Given the description of an element on the screen output the (x, y) to click on. 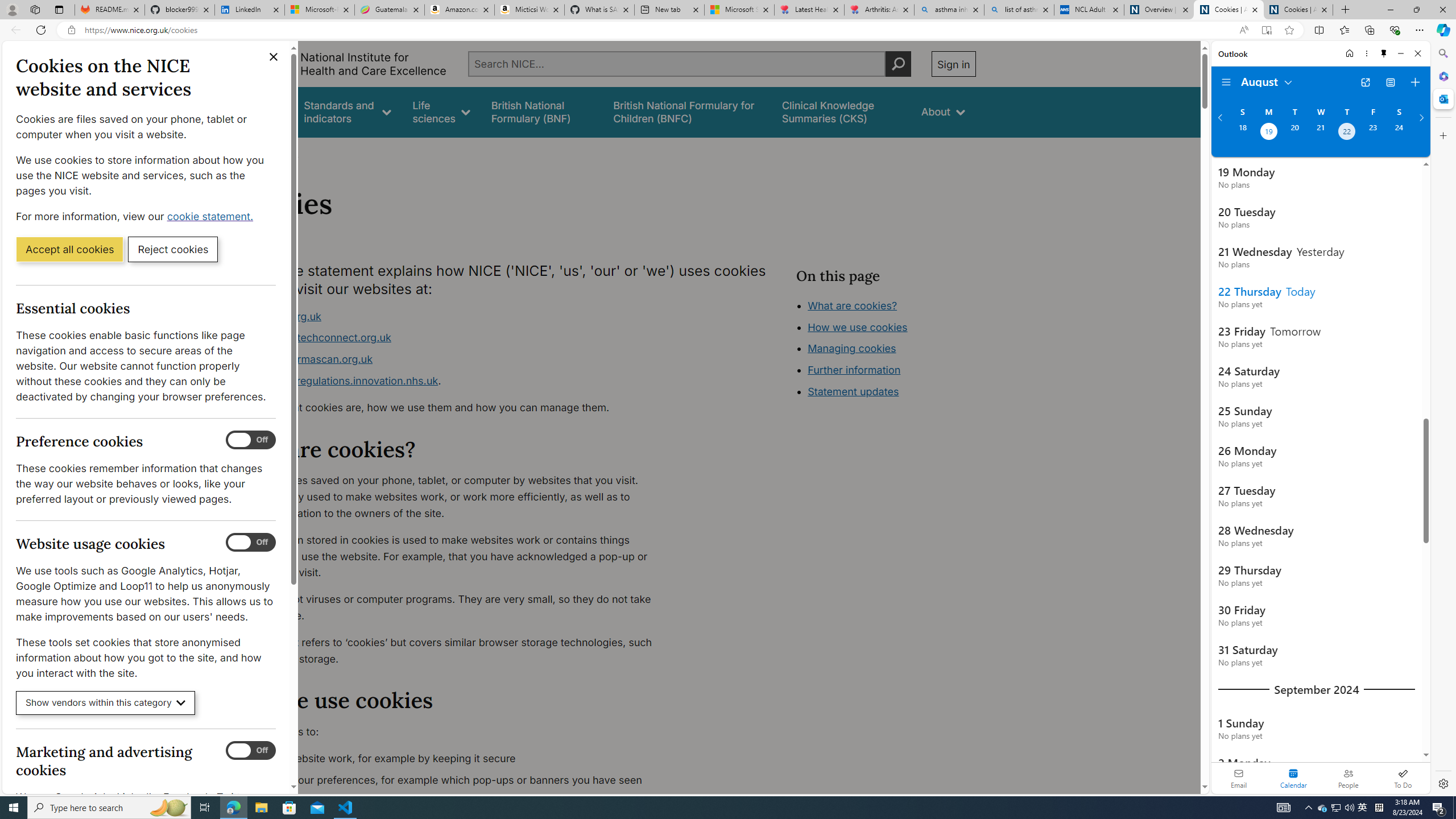
make our website work, for example by keeping it secure (452, 759)
Guidance (260, 111)
Accept all cookies (69, 248)
list of asthma inhalers uk - Search (1018, 9)
